Given the description of an element on the screen output the (x, y) to click on. 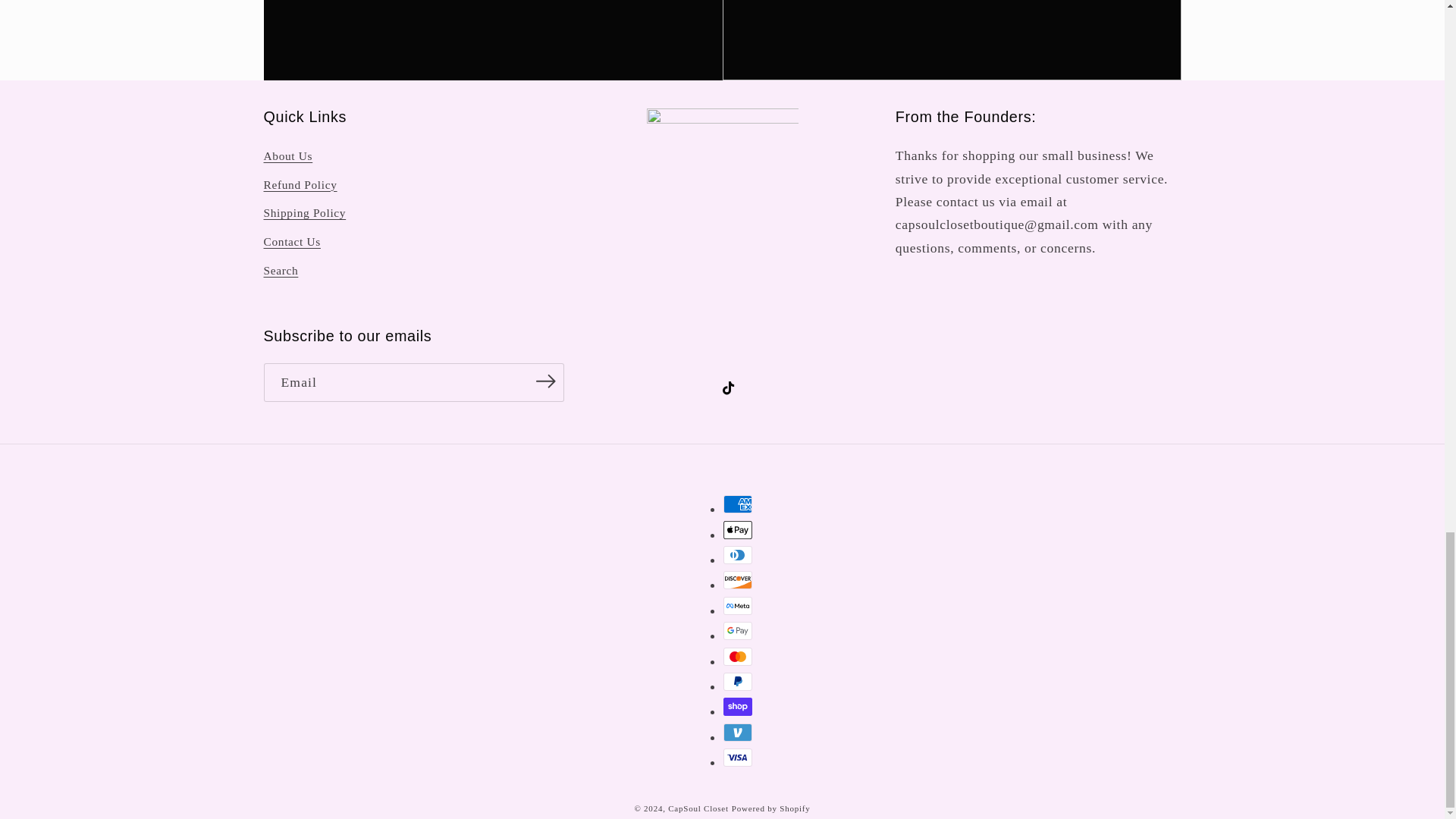
PayPal (737, 681)
Shop Pay (737, 706)
American Express (737, 504)
Mastercard (737, 656)
Diners Club (737, 555)
Meta Pay (737, 606)
Discover (737, 579)
Google Pay (737, 630)
Apple Pay (737, 529)
